Given the description of an element on the screen output the (x, y) to click on. 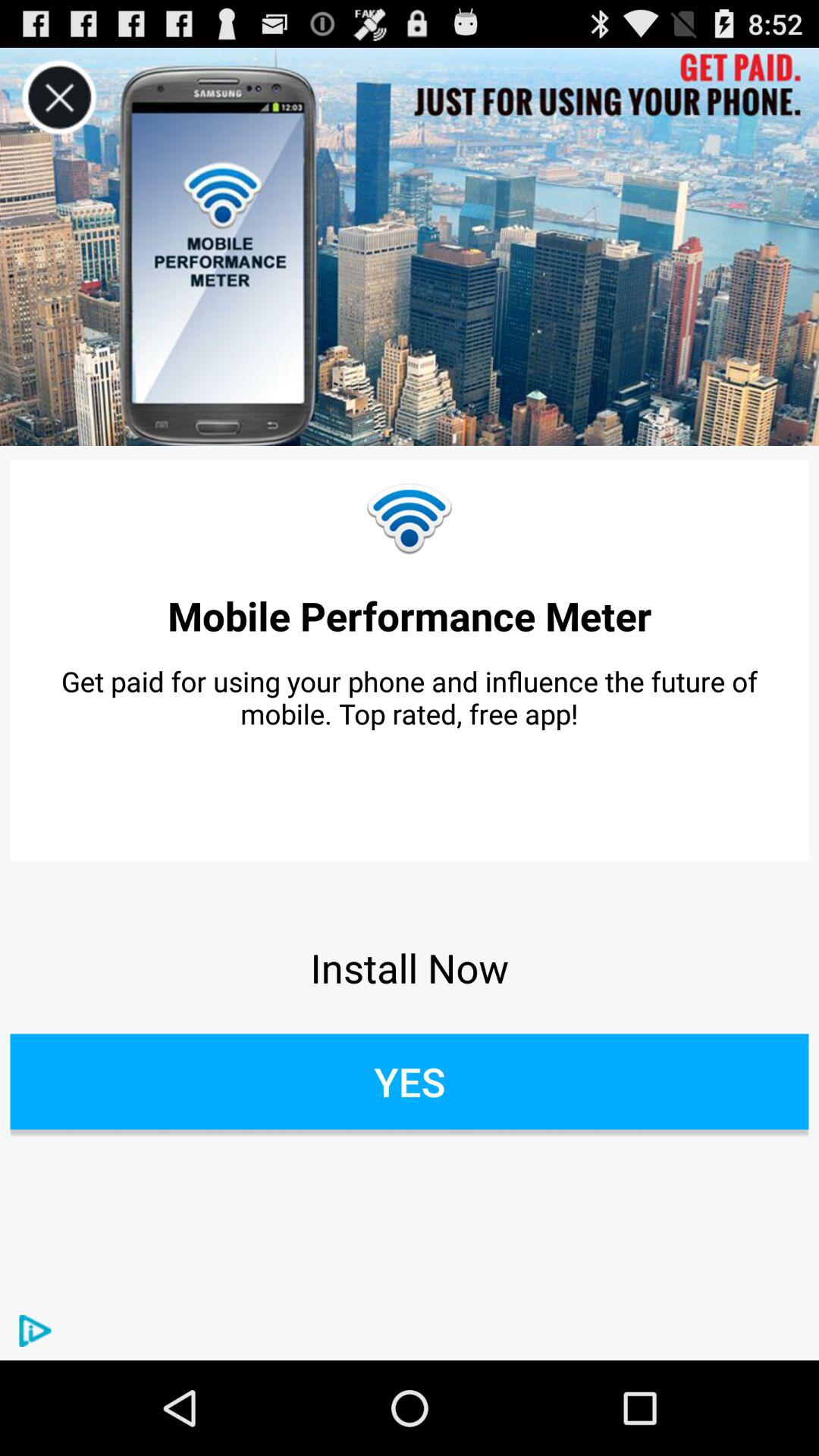
launch the icon at the bottom (409, 1081)
